Given the description of an element on the screen output the (x, y) to click on. 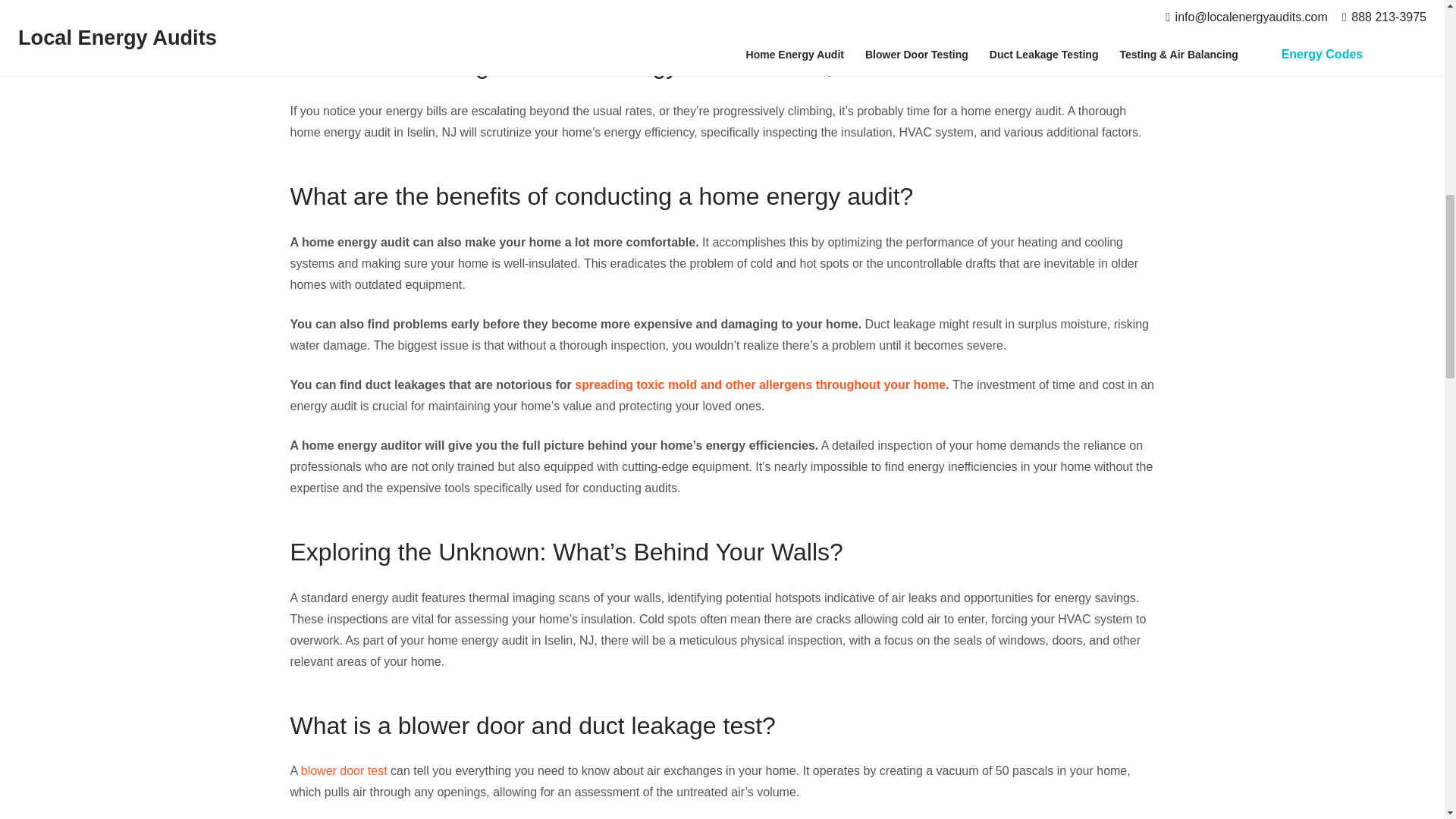
Back to top (1413, 30)
